Given the description of an element on the screen output the (x, y) to click on. 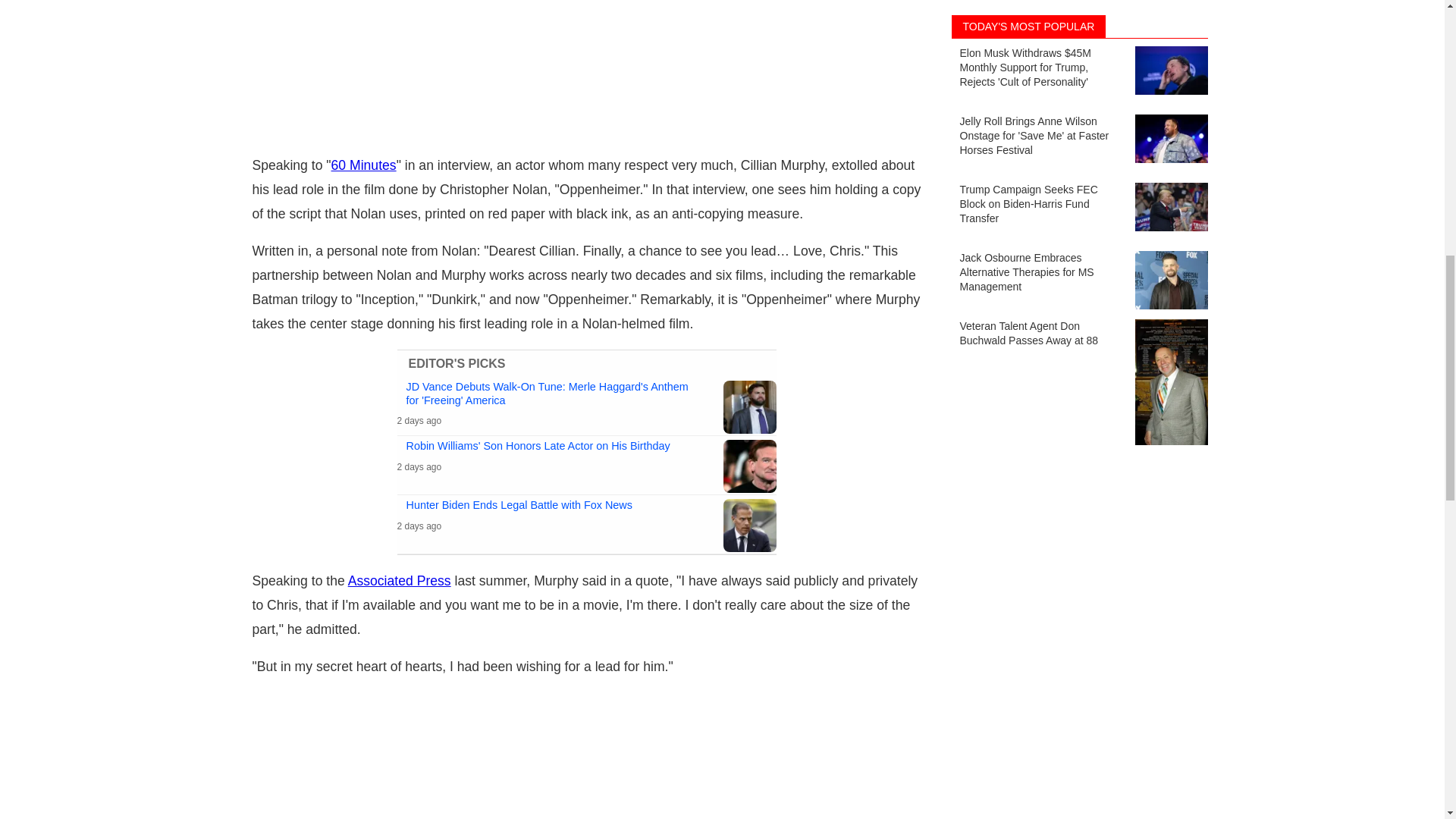
Associated Press (399, 580)
60 Minutes (363, 165)
